Given the description of an element on the screen output the (x, y) to click on. 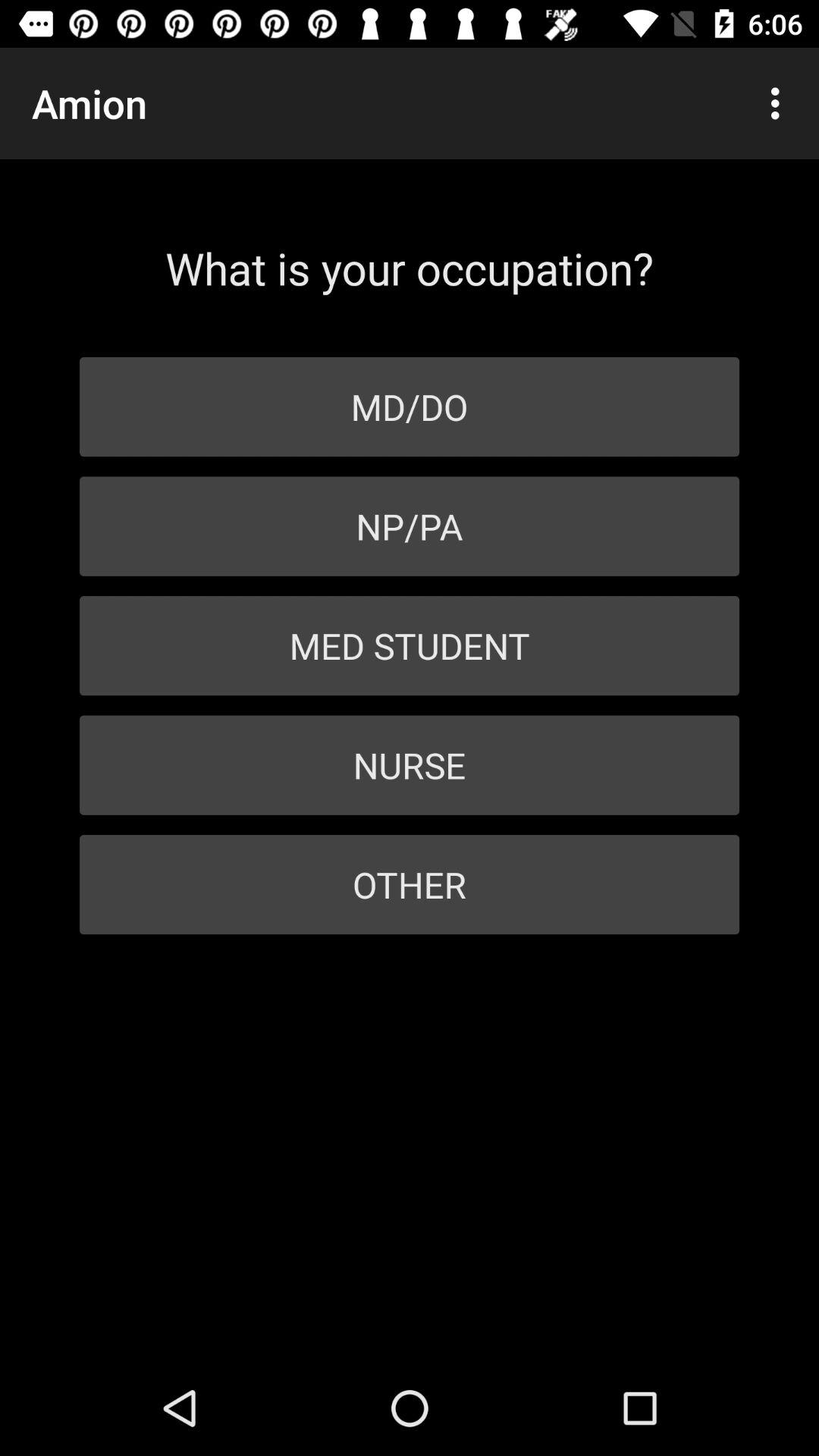
scroll until the md/do icon (409, 406)
